Given the description of an element on the screen output the (x, y) to click on. 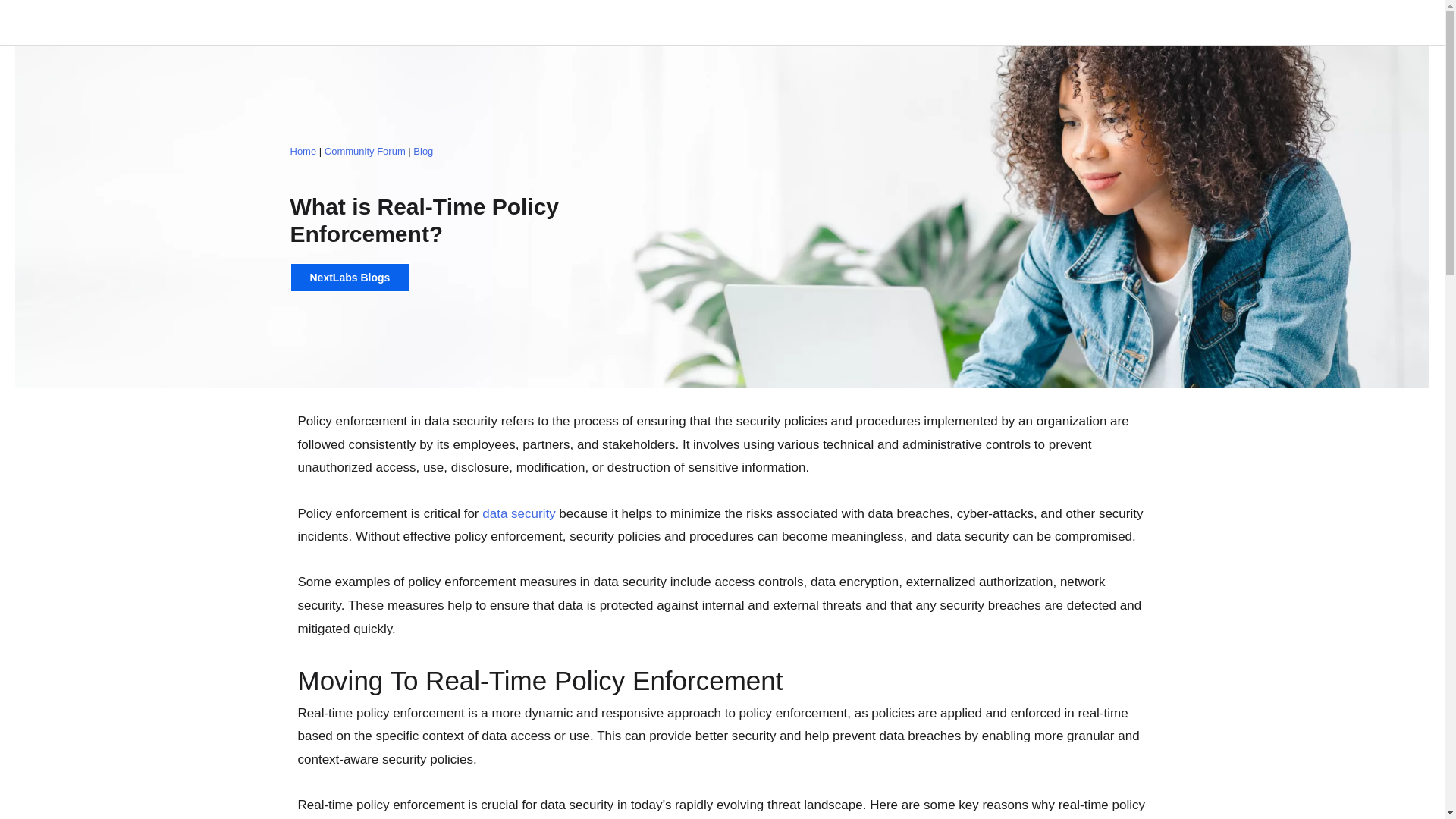
Products (1061, 22)
Solutions (1149, 22)
